Given the description of an element on the screen output the (x, y) to click on. 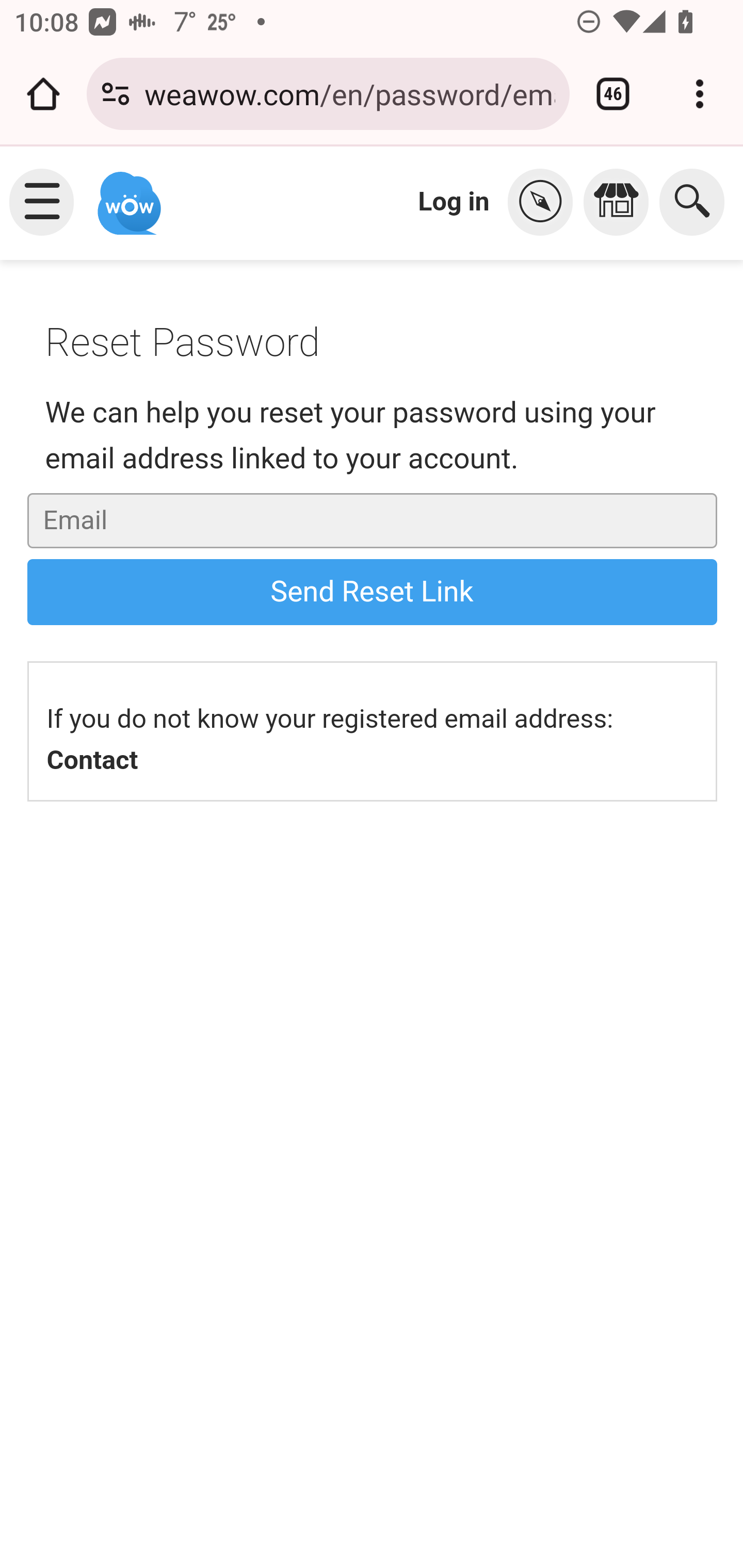
Open the home page (43, 93)
Connection is secure (115, 93)
Switch or close tabs (612, 93)
Customize and control Google Chrome (699, 93)
weawow.com/en/password/email (349, 92)
Weawow (127, 194)
 (545, 201)
 (621, 201)
Log in (453, 201)
Send Reset Link (371, 591)
Contact (91, 760)
